Given the description of an element on the screen output the (x, y) to click on. 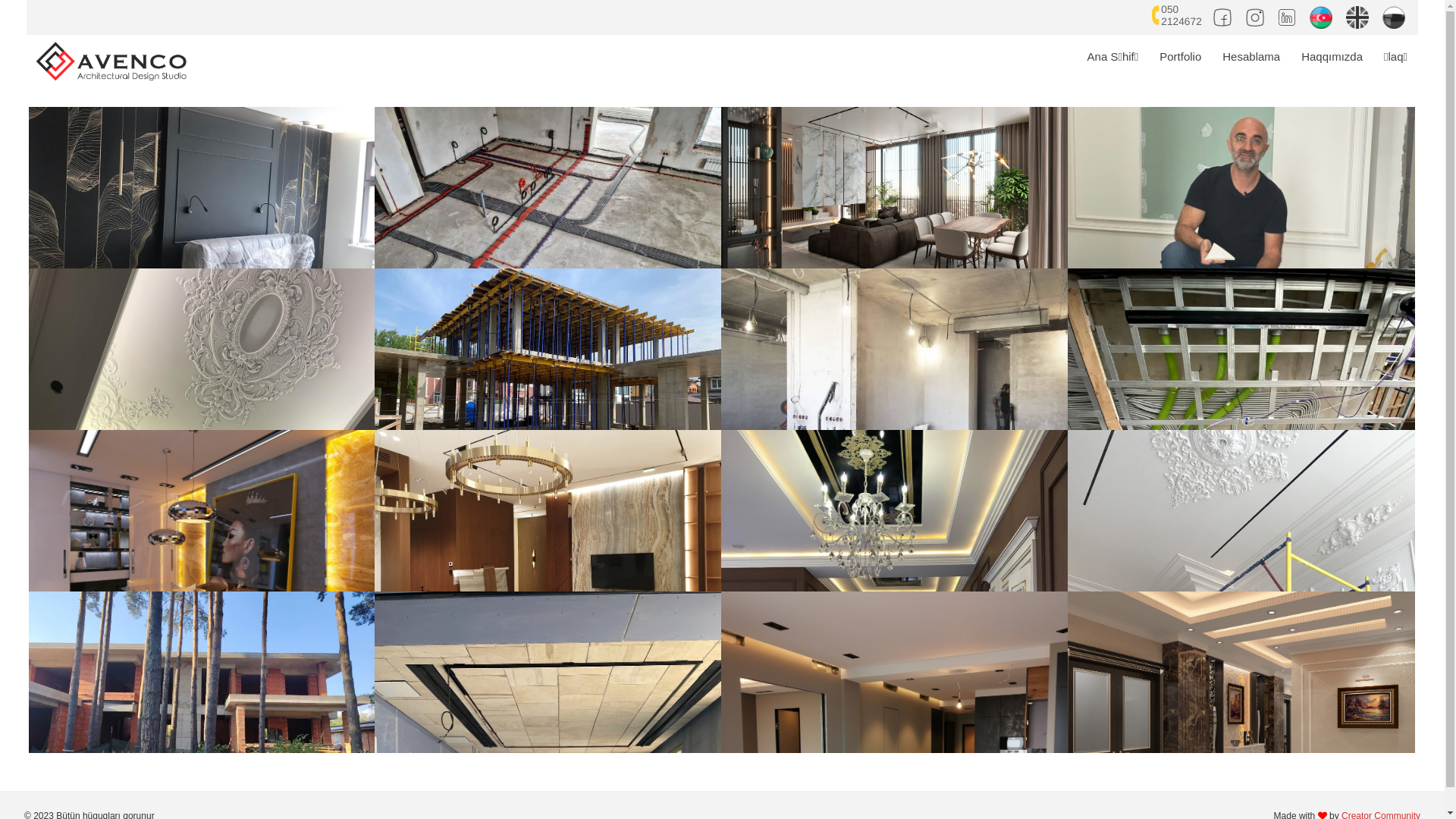
Linkedin Element type: hover (1288, 14)
Portfolio Element type: text (1179, 56)
Hesablama Element type: text (1250, 56)
Lang-Azerbaijani Element type: hover (1322, 14)
Facebook Element type: hover (1224, 14)
Lang-Russian Element type: hover (1393, 14)
Lang-English Element type: hover (1359, 14)
Instagram Element type: hover (1256, 14)
